Given the description of an element on the screen output the (x, y) to click on. 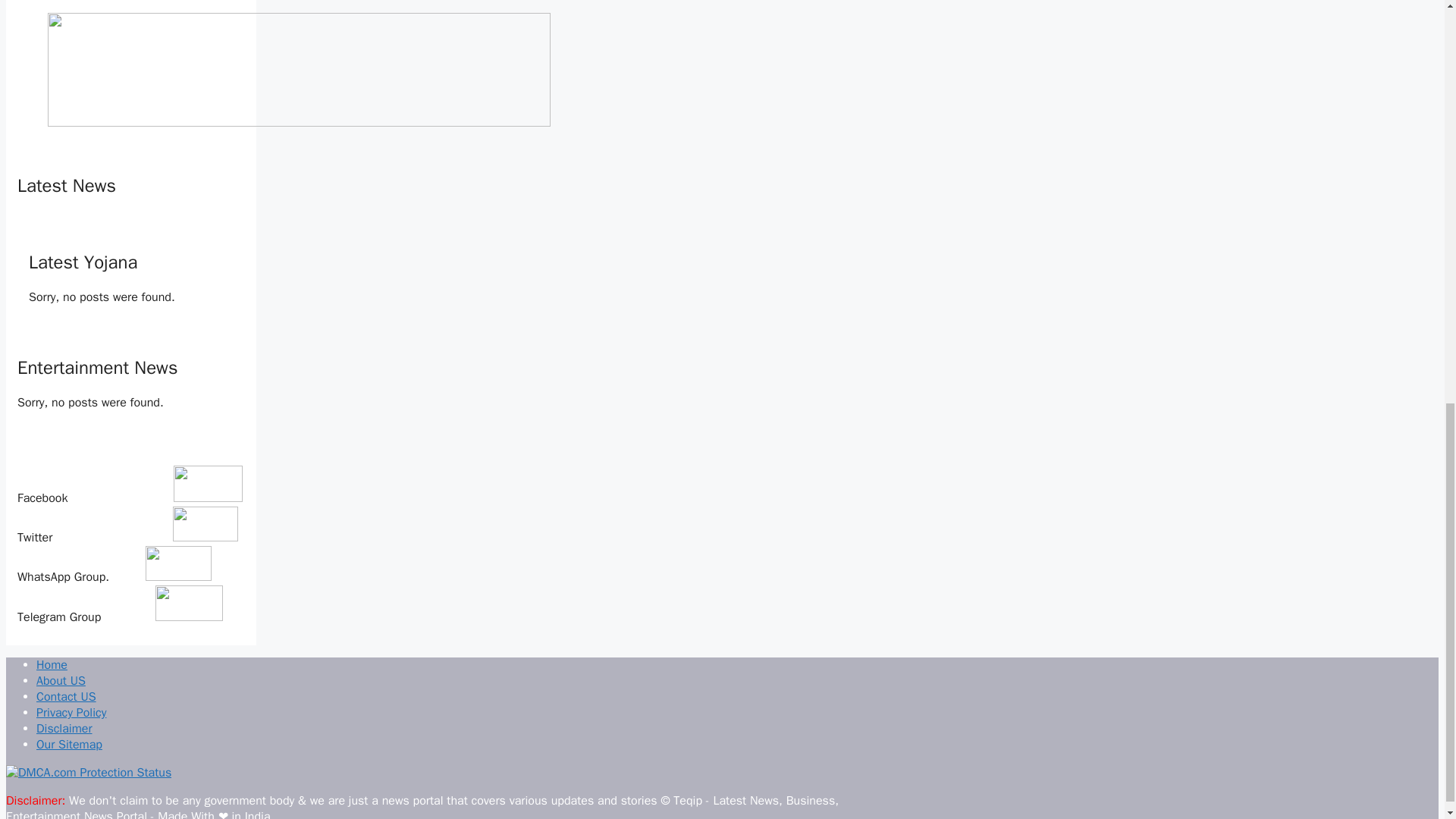
Disclaimer (63, 728)
Contact US (66, 696)
Home (51, 664)
Privacy Policy (71, 712)
Our Sitemap (68, 744)
DMCA.com Protection Status (88, 772)
About US (60, 680)
